Given the description of an element on the screen output the (x, y) to click on. 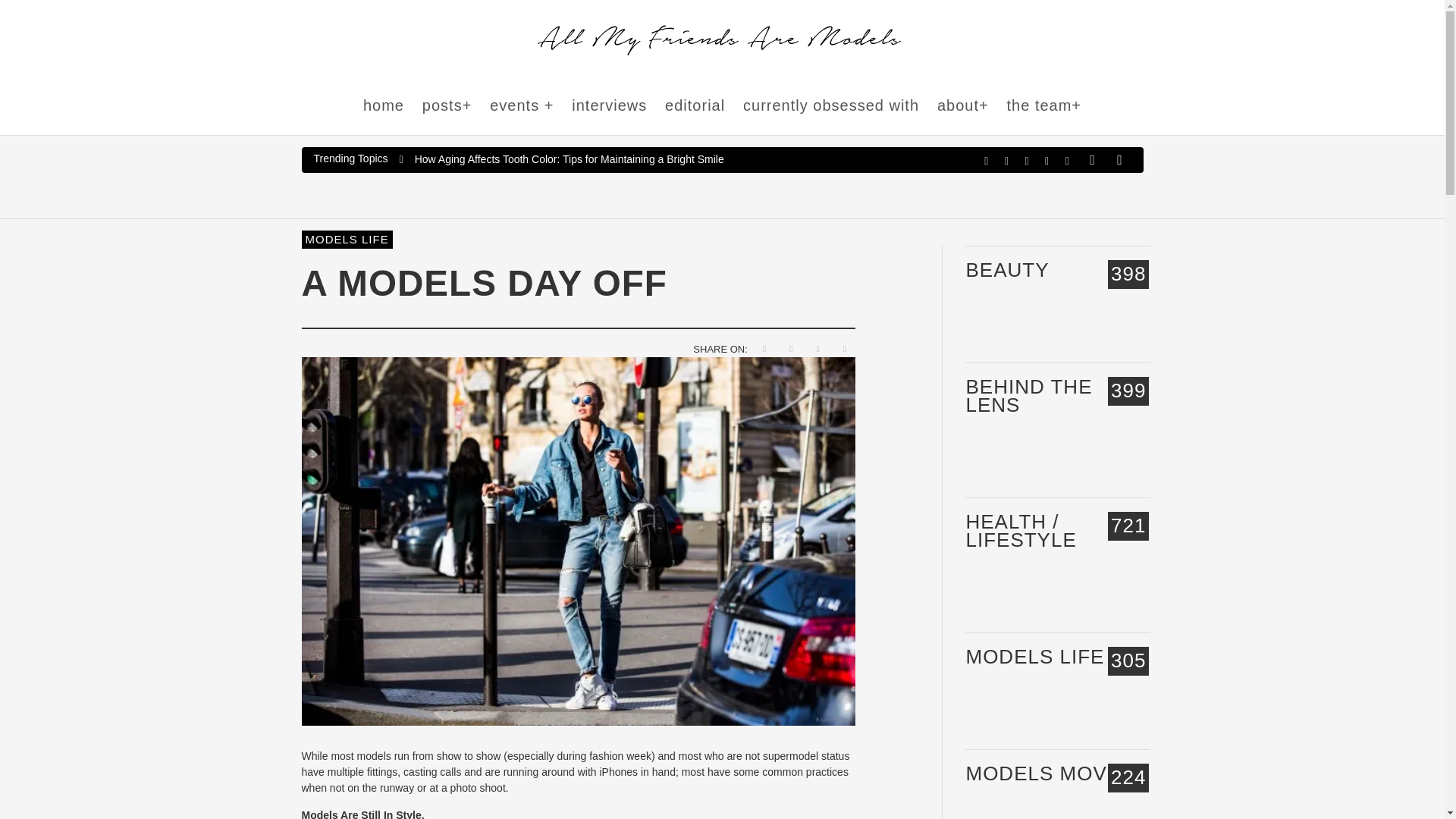
interviews (608, 105)
home (383, 105)
